Given the description of an element on the screen output the (x, y) to click on. 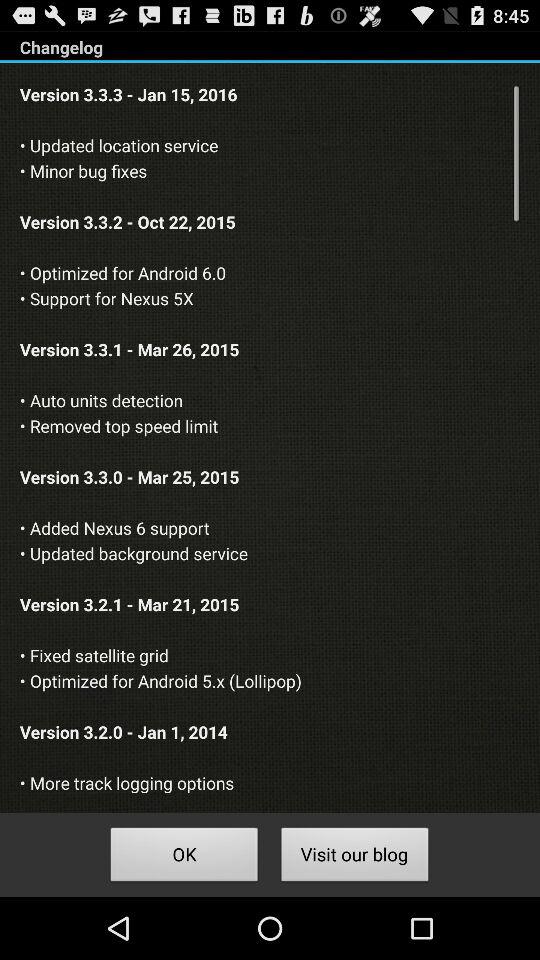
flip to ok (184, 857)
